Given the description of an element on the screen output the (x, y) to click on. 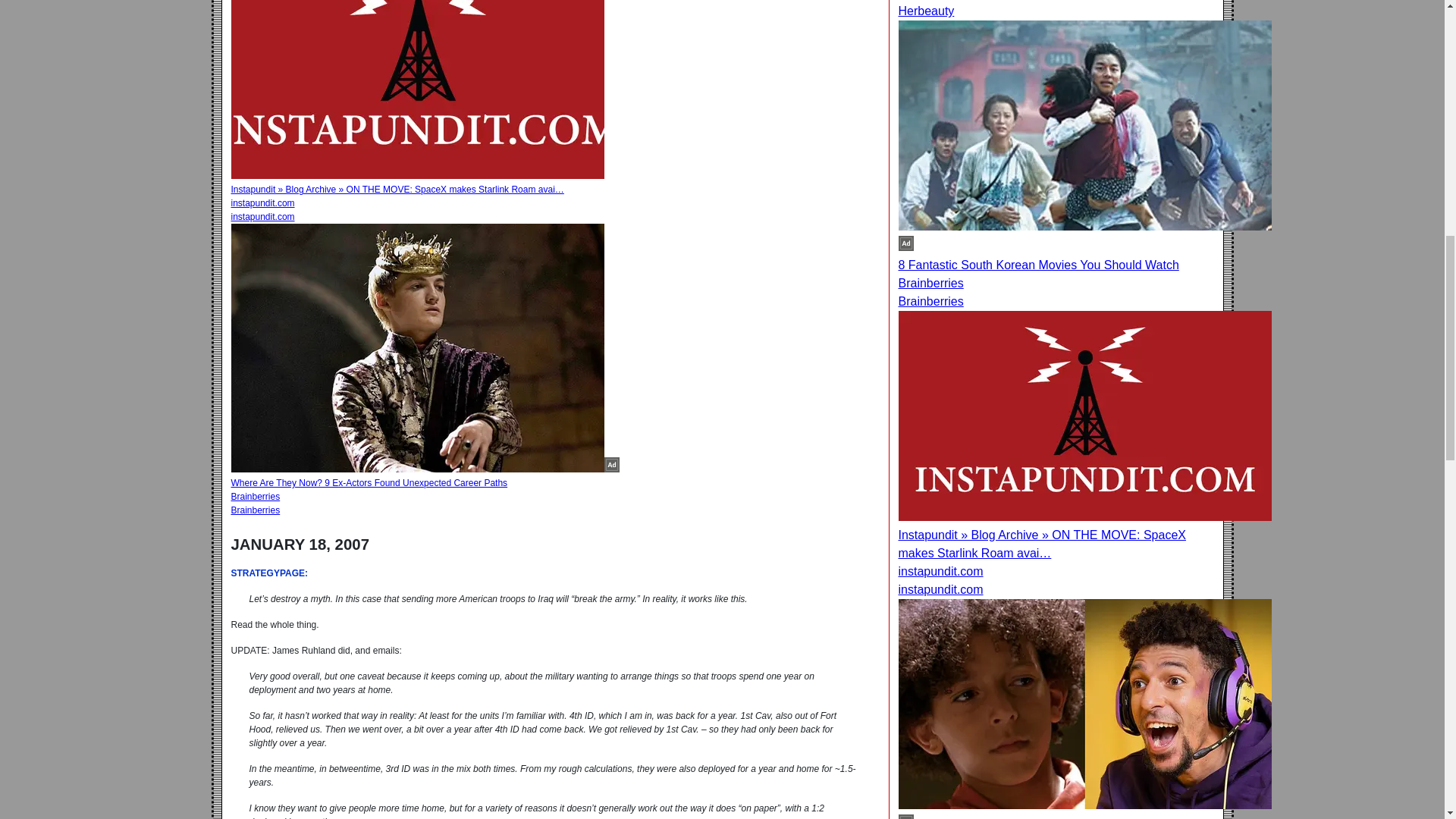
STRATEGYPAGE: (268, 573)
